Given the description of an element on the screen output the (x, y) to click on. 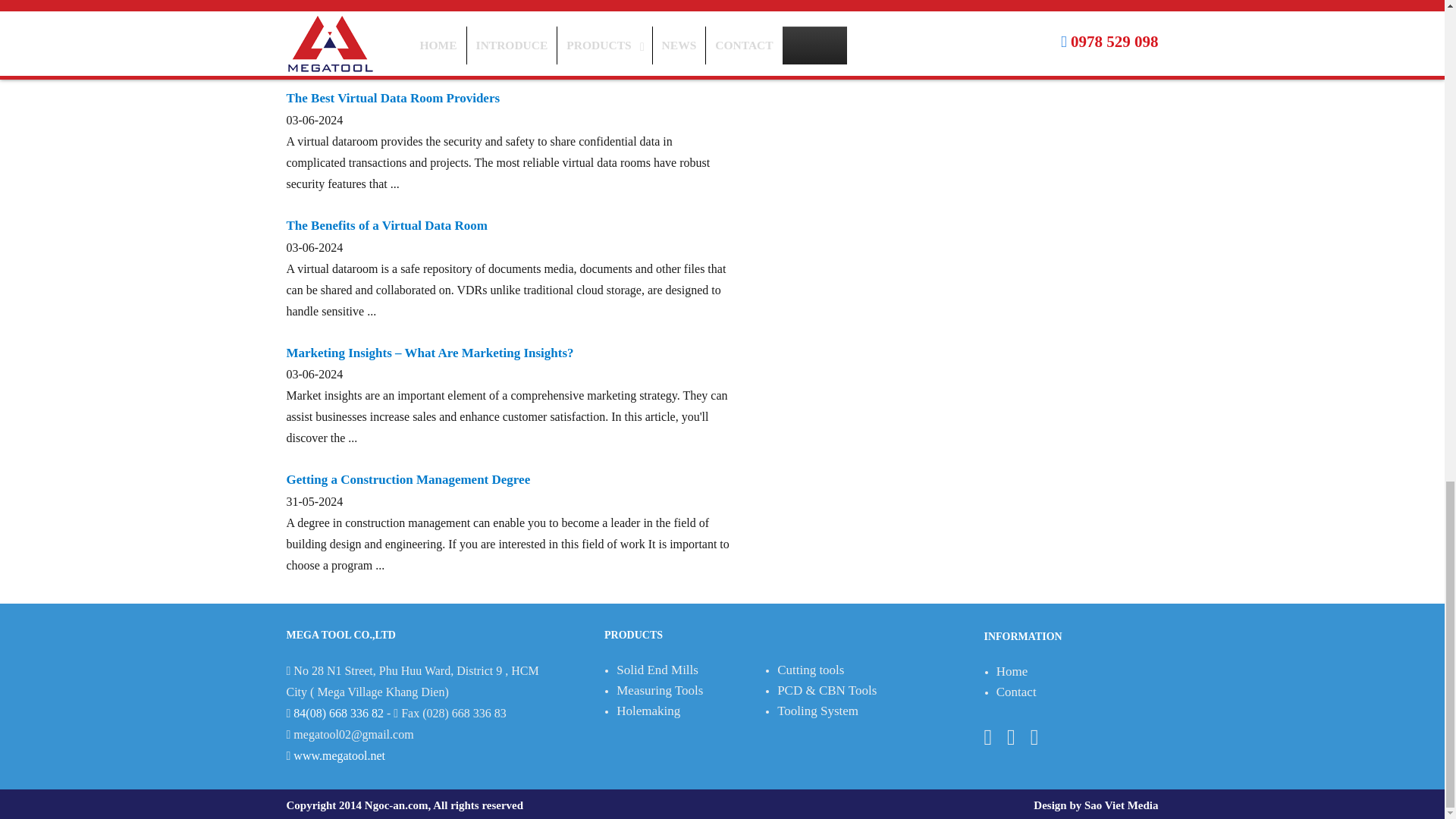
Getting a Construction Management Degree (408, 479)
The Benefits of a Virtual Data Room (386, 225)
Getting a Construction Management Degree (408, 479)
The Best Virtual Data Room Providers (393, 97)
The Benefits of a Virtual Data Room (386, 225)
NGOC AN INDUSTRIAL SUPPLIES CO., LTD (339, 754)
The Best Virtual Data Room Providers (393, 97)
